Given the description of an element on the screen output the (x, y) to click on. 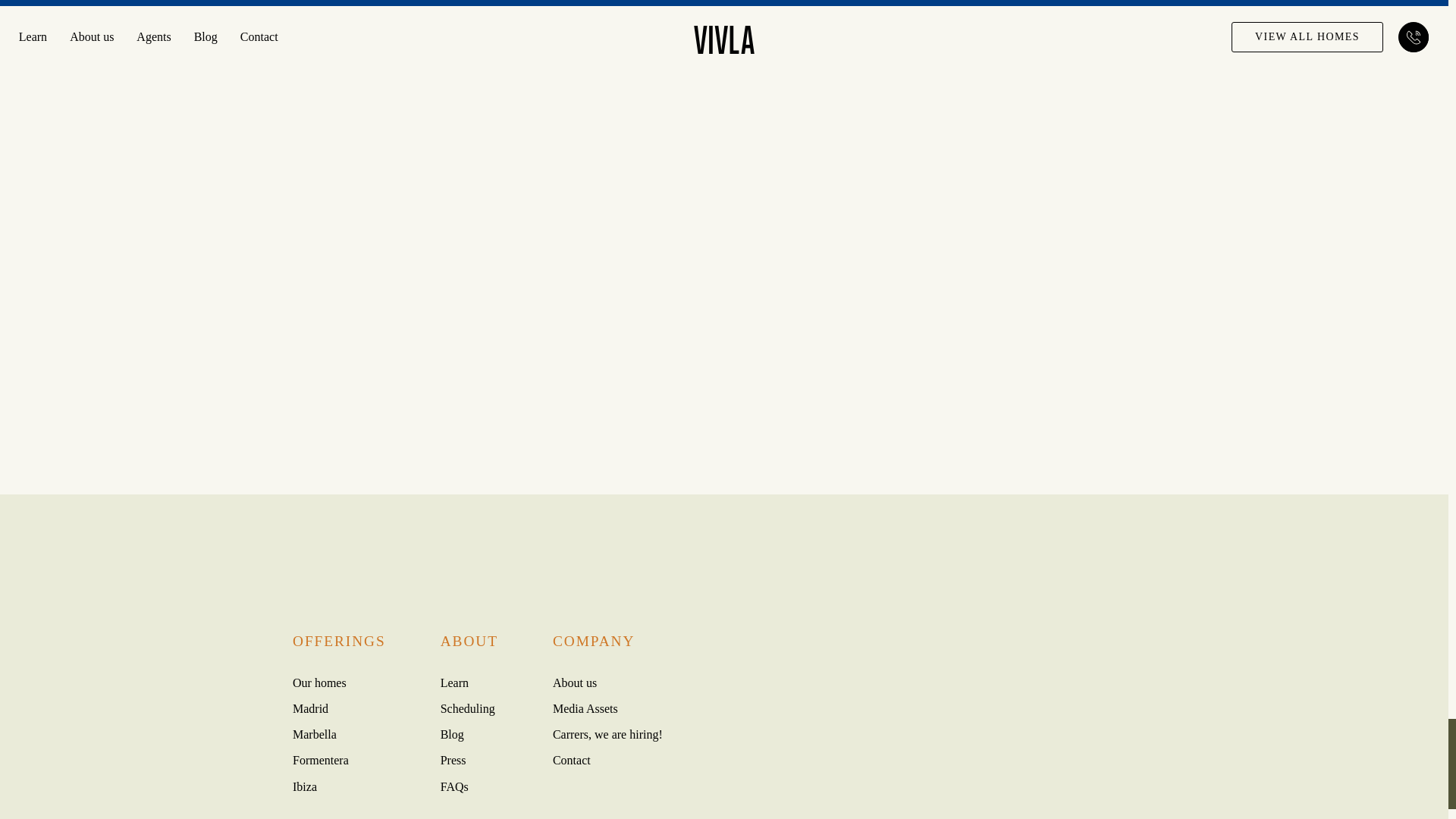
Scheduling (468, 707)
Our homes (319, 682)
FAQs (454, 786)
Media Assets (585, 707)
Formentera (320, 759)
Madrid (310, 707)
Press (453, 759)
Carrers, we are hiring! (607, 734)
Marbella (314, 734)
Contact (572, 759)
